Given the description of an element on the screen output the (x, y) to click on. 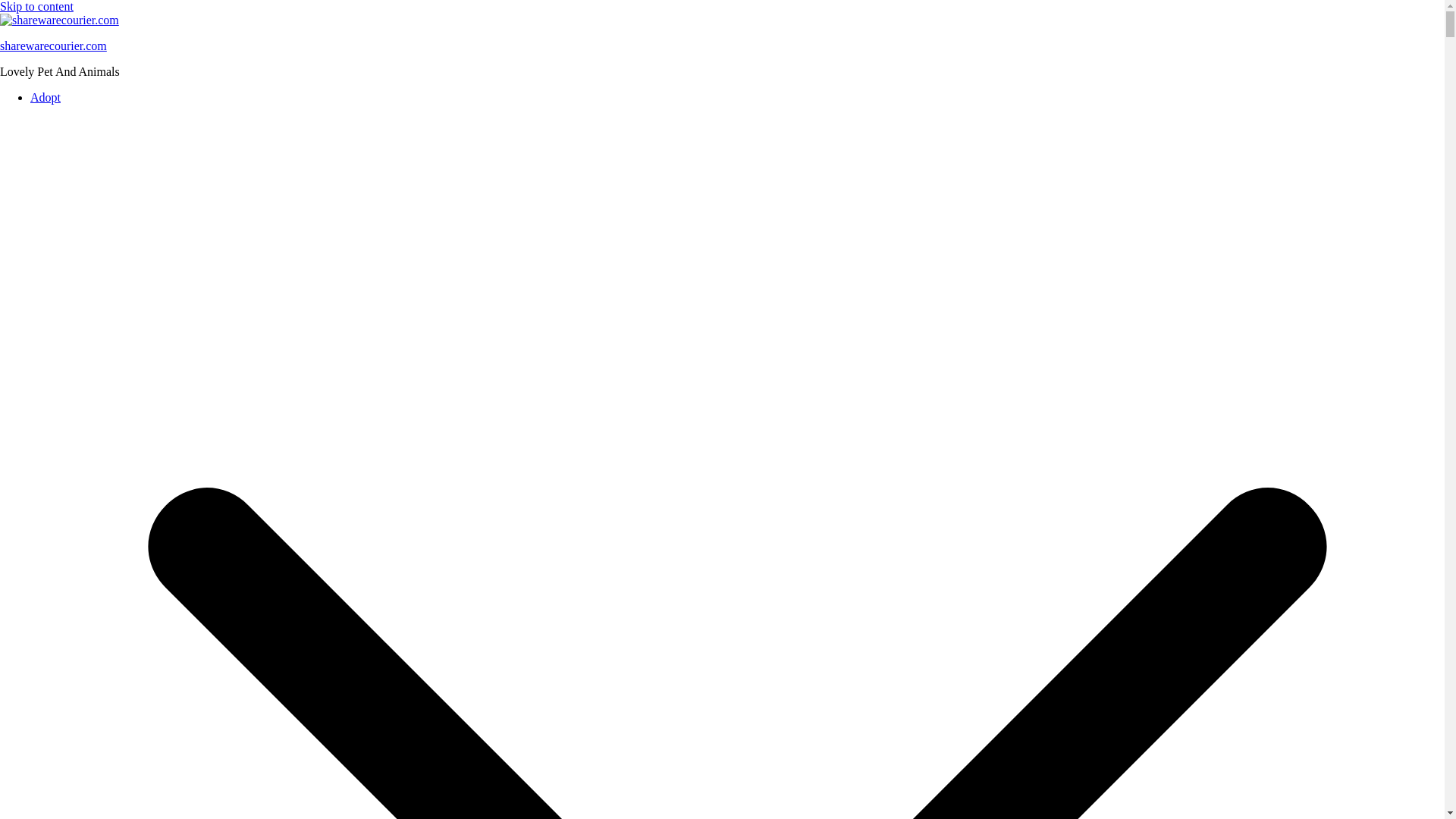
sharewarecourier.com (53, 45)
Skip to content (37, 6)
